Given the description of an element on the screen output the (x, y) to click on. 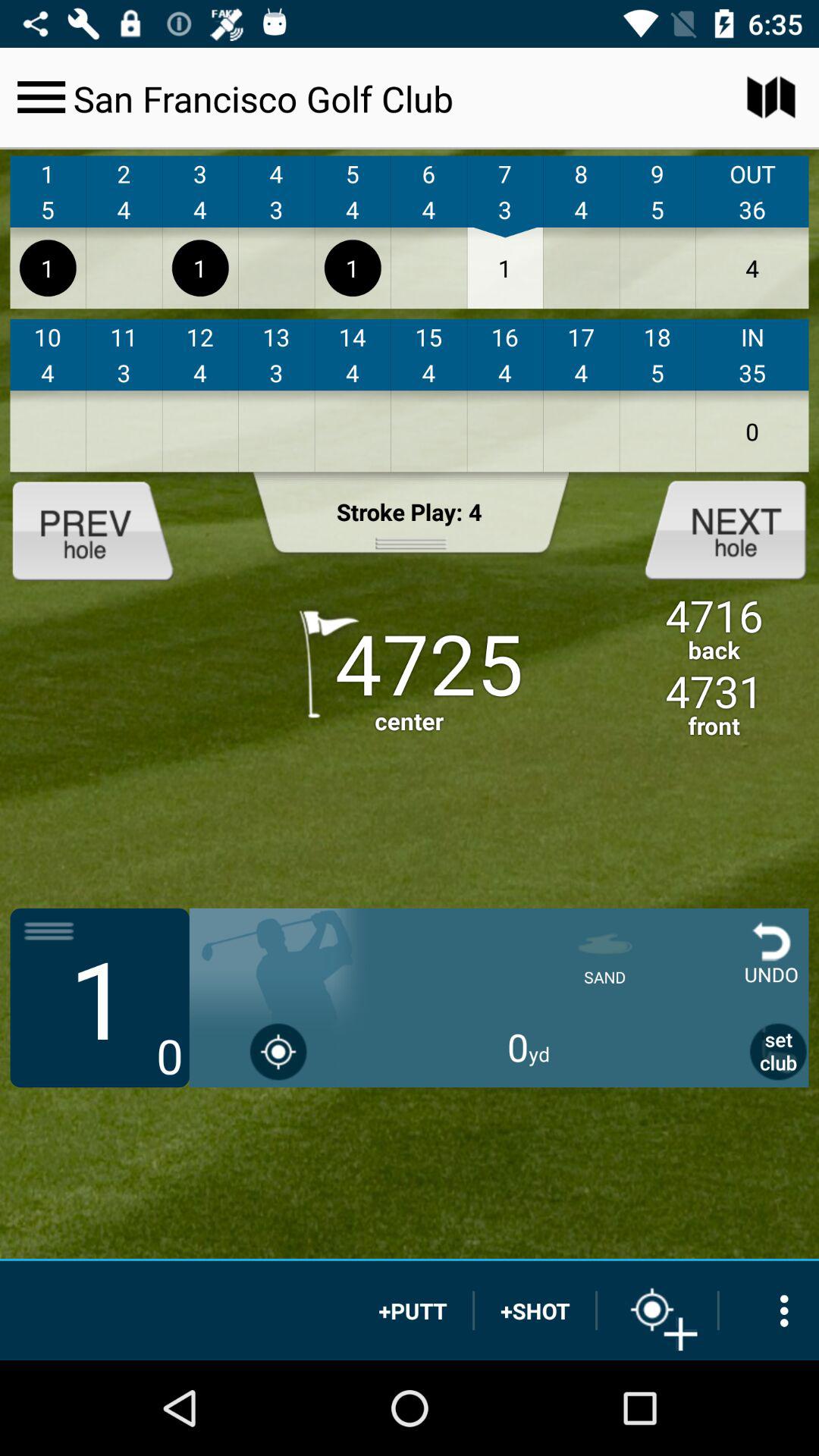
golf game reviver (105, 528)
